Given the description of an element on the screen output the (x, y) to click on. 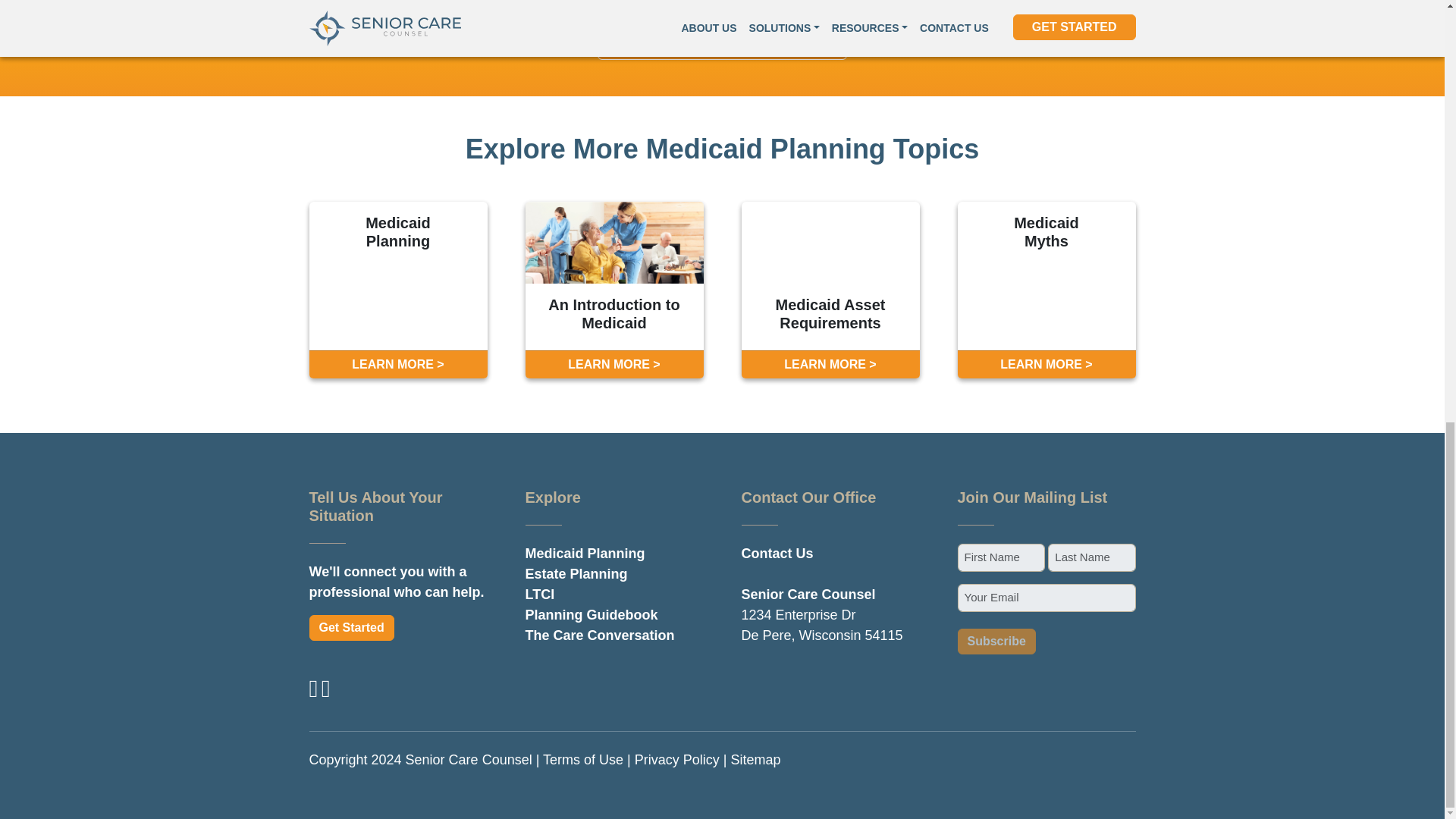
Subscribe (995, 641)
Privacy Policy (676, 759)
The Care Conversation (599, 635)
Contact Us (777, 553)
Estate Planning (575, 573)
Terms of Use (583, 759)
Sitemap (755, 759)
Planning Guidebook (591, 614)
Get Started (351, 627)
LTCI (539, 594)
